Given the description of an element on the screen output the (x, y) to click on. 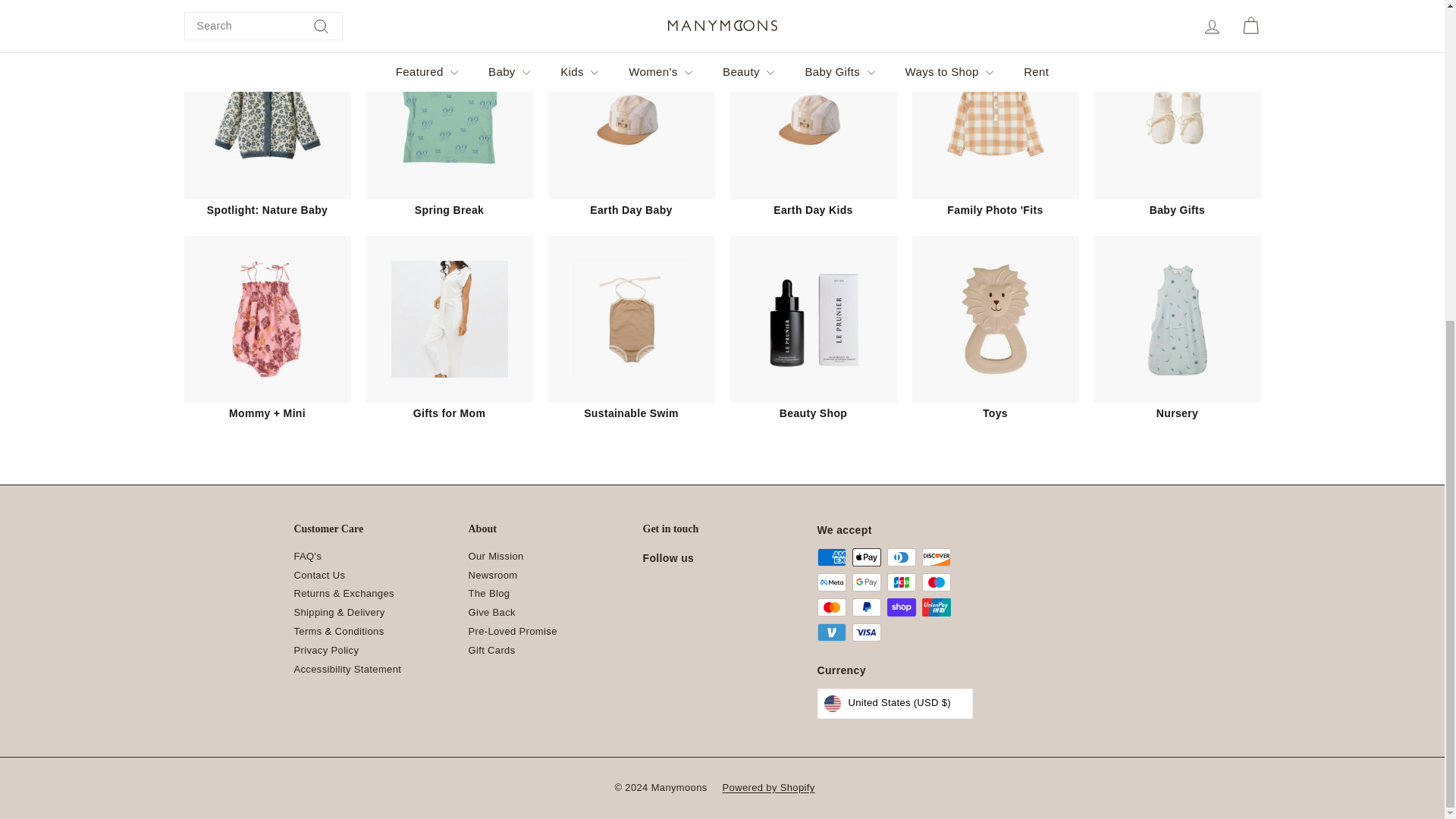
Meta Pay (830, 582)
Discover (935, 556)
Google Pay (865, 582)
JCB (900, 582)
Maestro (935, 582)
Mastercard (830, 607)
American Express (830, 556)
Diners Club (900, 556)
Apple Pay (865, 556)
